Given the description of an element on the screen output the (x, y) to click on. 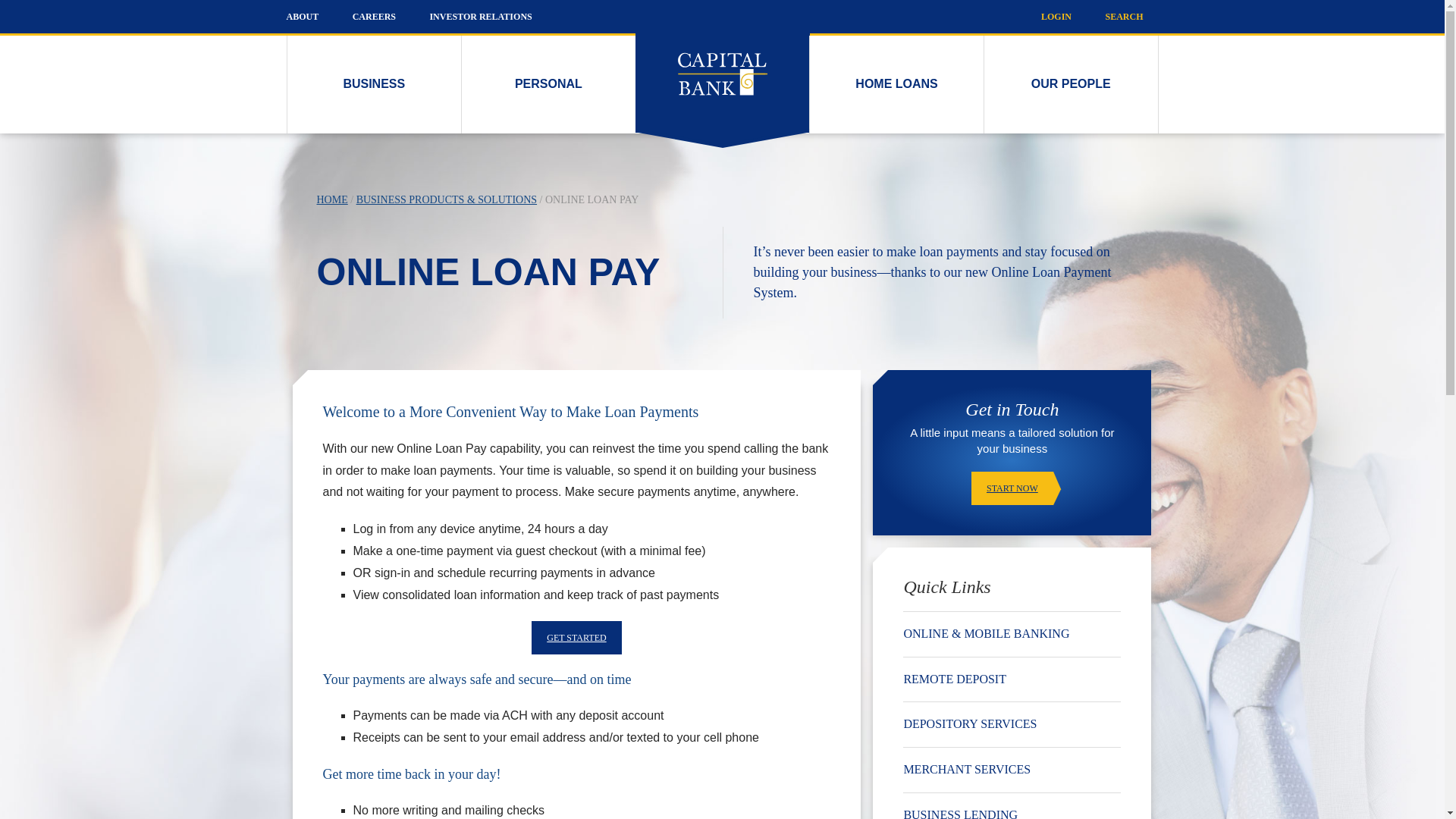
INVESTOR RELATIONS (480, 16)
ABOUT (302, 16)
BUSINESS (373, 84)
HOME LOANS (896, 84)
LOGIN (1056, 16)
CAREERS (374, 16)
OUR PEOPLE (1070, 84)
SEARCH (1123, 16)
PERSONAL (547, 84)
